Given the description of an element on the screen output the (x, y) to click on. 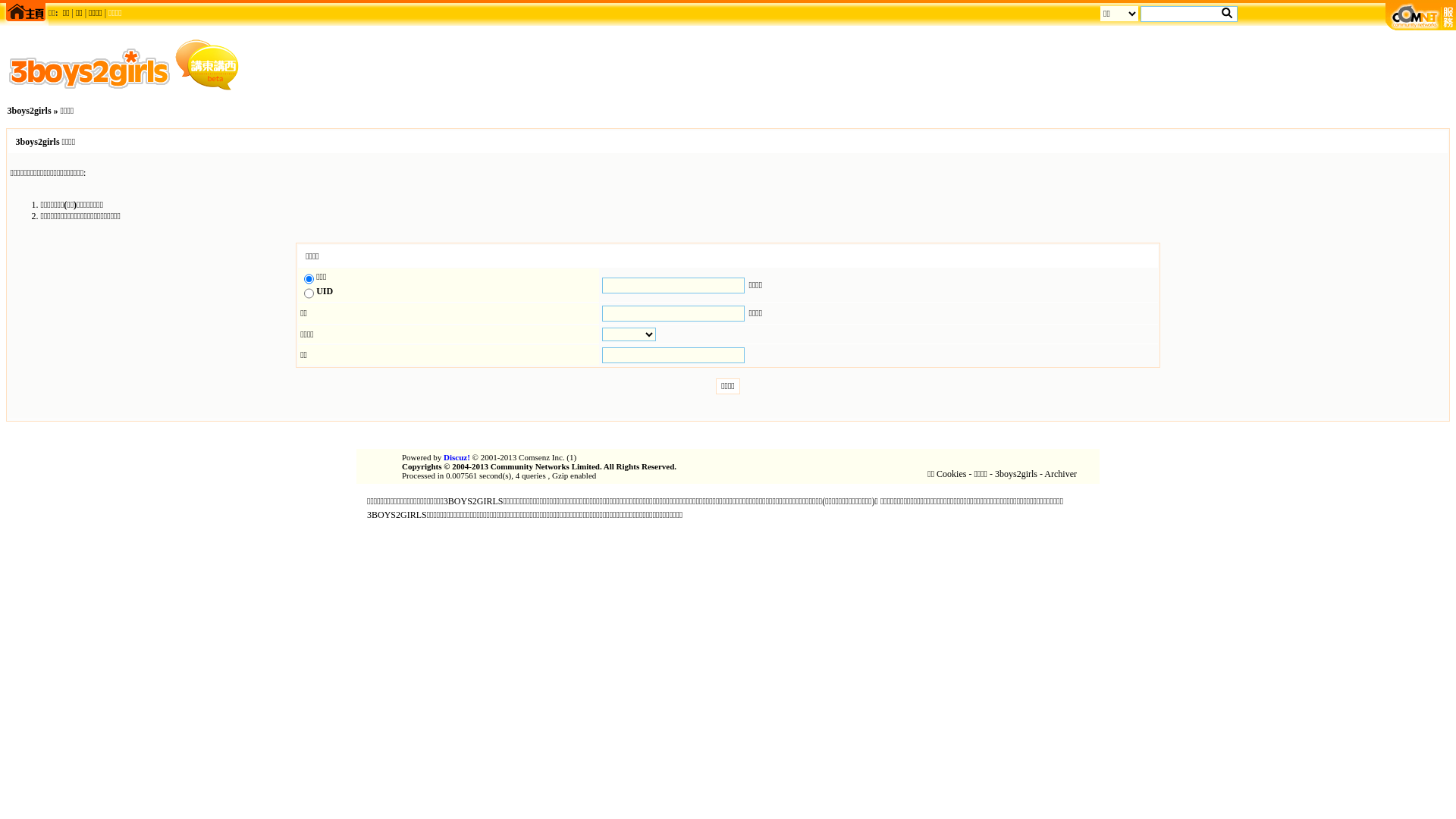
3boys2girls Element type: text (29, 110)
username Element type: text (308, 279)
Archiver Element type: text (1060, 473)
  Element type: text (1226, 12)
Discuz! Element type: text (456, 456)
3boys2girls Element type: text (1015, 473)
uid Element type: text (308, 293)
Community Networks Limited Element type: text (544, 465)
